Given the description of an element on the screen output the (x, y) to click on. 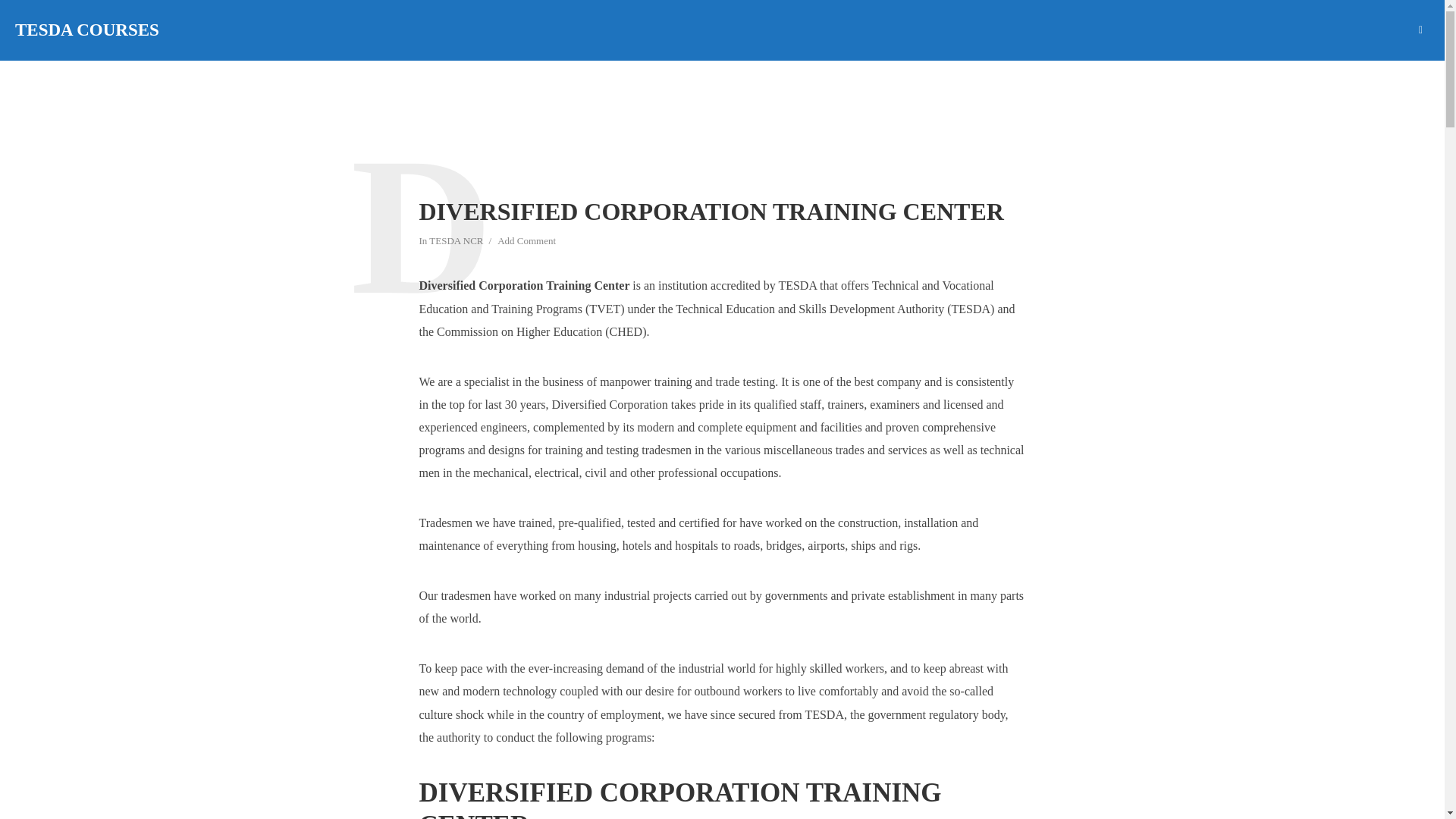
TESDA COURSES (86, 29)
Add Comment (526, 242)
TESDA NCR (456, 242)
